Given the description of an element on the screen output the (x, y) to click on. 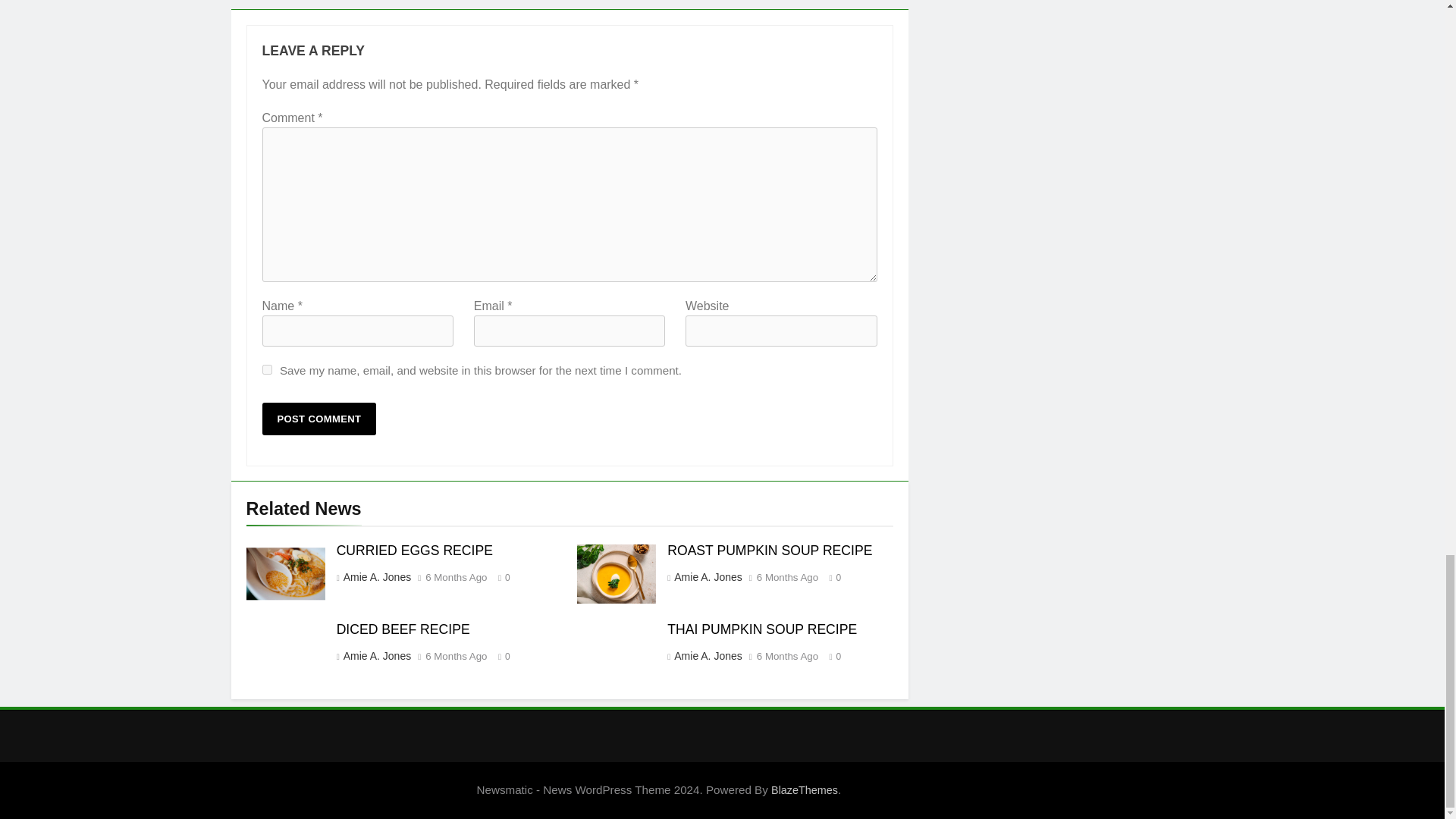
0 (500, 655)
yes (267, 369)
DICED BEEF RECIPE (403, 629)
CURRIED EGGS RECIPE (414, 549)
6 Months Ago (787, 577)
Amie A. Jones (376, 655)
Post Comment (319, 418)
0 (500, 576)
THAI PUMPKIN SOUP RECIPE (761, 629)
Amie A. Jones (376, 576)
6 Months Ago (455, 656)
Amie A. Jones (707, 655)
ROAST PUMPKIN SOUP RECIPE (769, 549)
0 (831, 576)
Post Comment (319, 418)
